Given the description of an element on the screen output the (x, y) to click on. 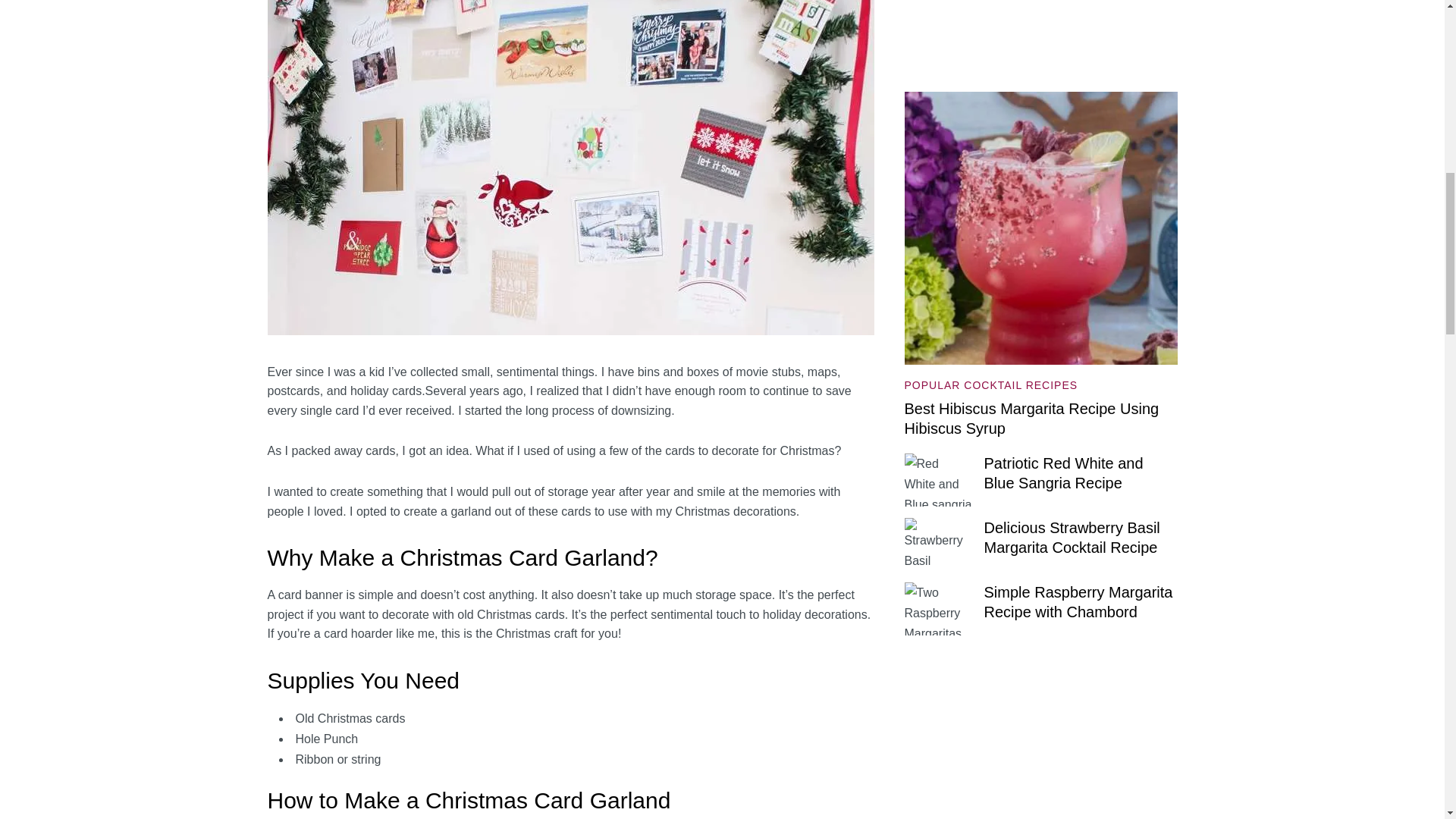
Best Hibiscus Margarita Recipe Using Hibiscus Syrup (1031, 418)
Delicious Strawberry Basil Margarita Cocktail Recipe (1072, 537)
Simple Raspberry Margarita Recipe with Chambord (1078, 601)
Patriotic Red White and Blue Sangria Recipe (1063, 473)
Best Hibiscus Margarita Recipe Using Hibiscus Syrup (1040, 101)
